Given the description of an element on the screen output the (x, y) to click on. 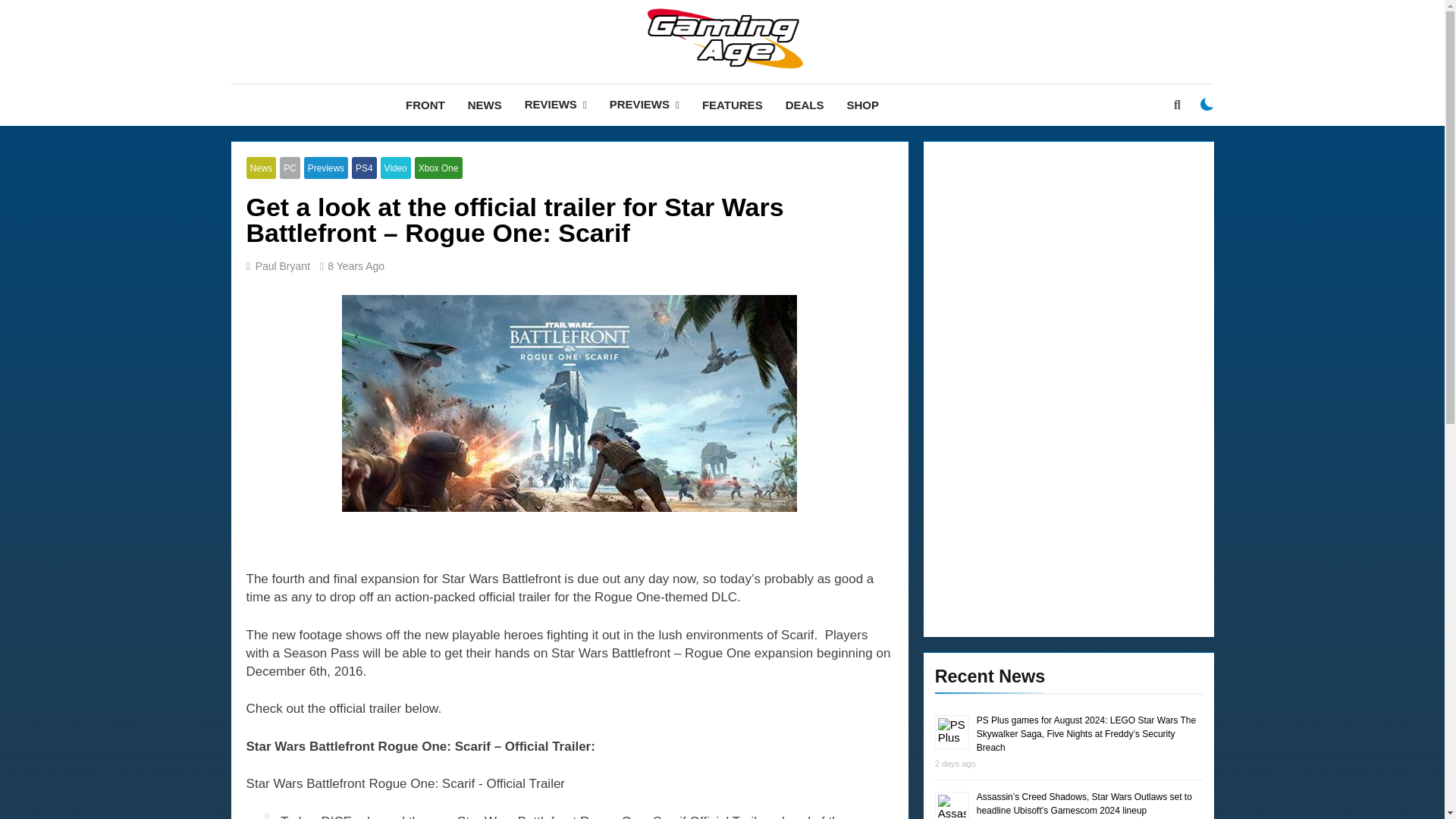
DEALS (804, 105)
SHOP (861, 105)
REVIEWS (555, 105)
on (1206, 104)
PREVIEWS (644, 105)
NEWS (485, 105)
Gaming Age (571, 92)
FEATURES (732, 105)
FRONT (425, 105)
Star Wars Battlefront Rogue One: Scarif - Official Trailer (569, 783)
